Given the description of an element on the screen output the (x, y) to click on. 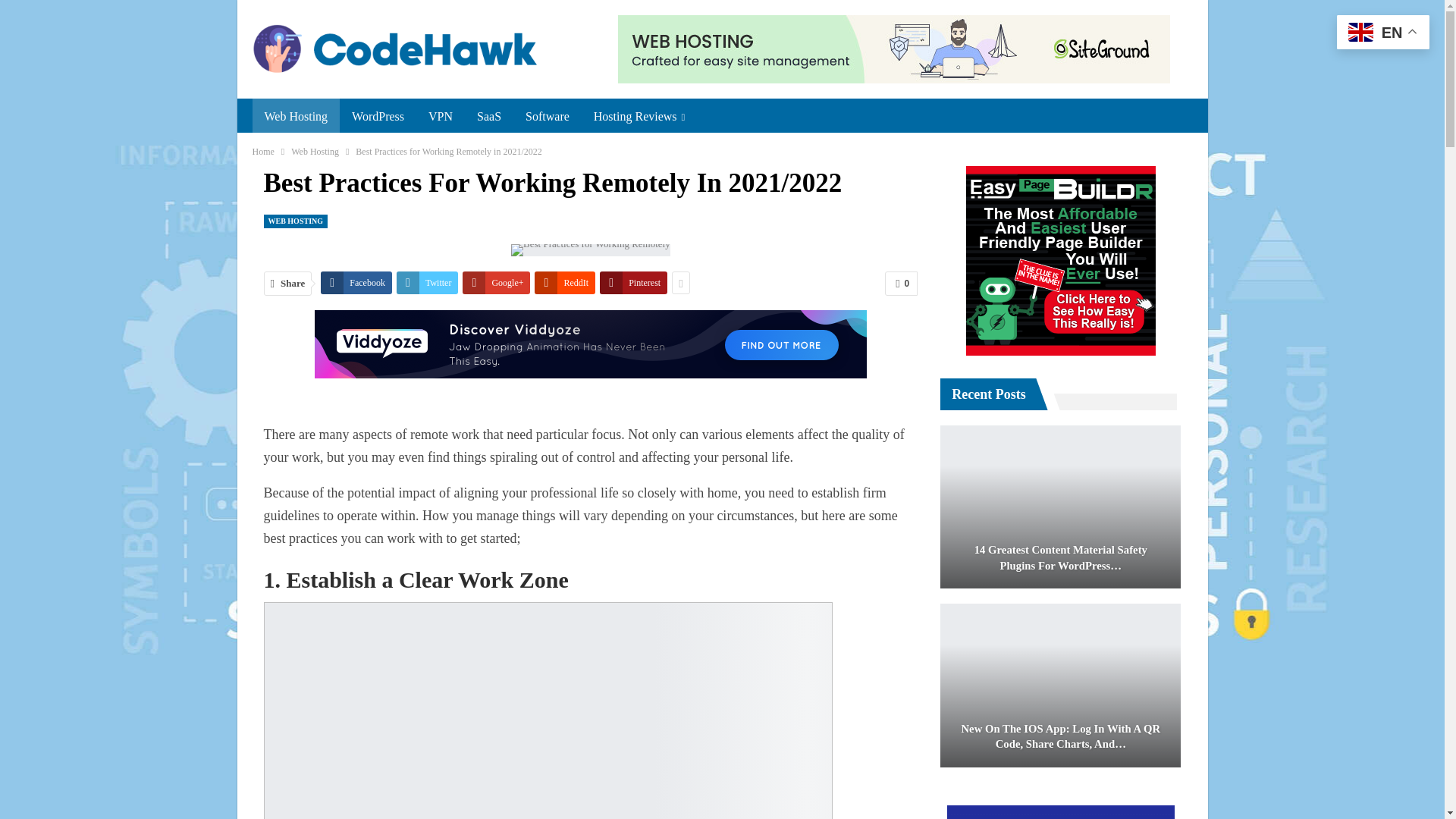
ReddIt (564, 282)
Software (546, 116)
Pinterest (632, 282)
Web Hosting (315, 151)
Twitter (427, 282)
0 (901, 283)
Web Hosting (295, 116)
Hosting Reviews (638, 116)
Facebook (355, 282)
WEB HOSTING (296, 220)
WordPress (377, 116)
VPN (440, 116)
Home (262, 151)
